Given the description of an element on the screen output the (x, y) to click on. 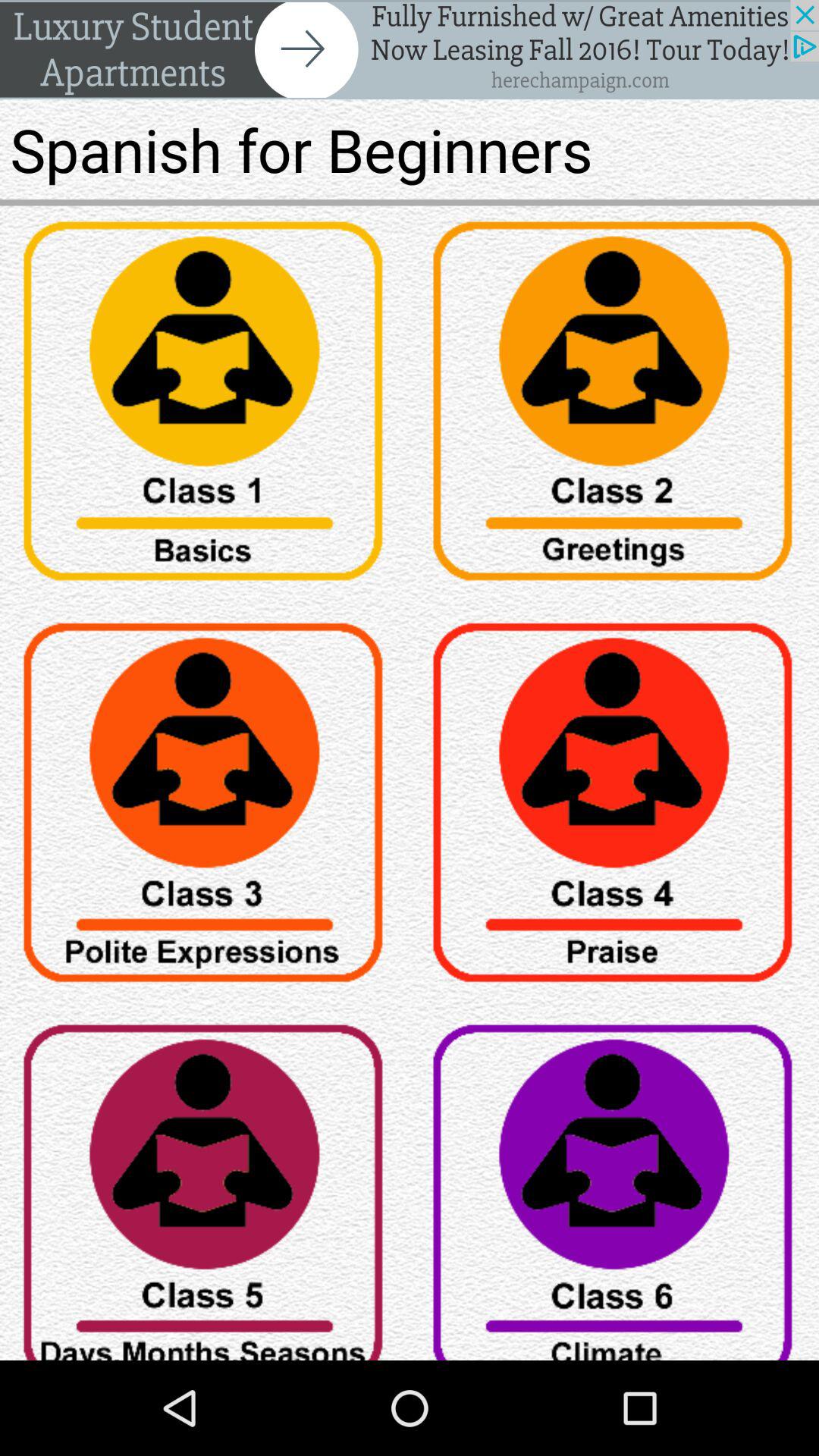
start class 1 (204, 406)
